Given the description of an element on the screen output the (x, y) to click on. 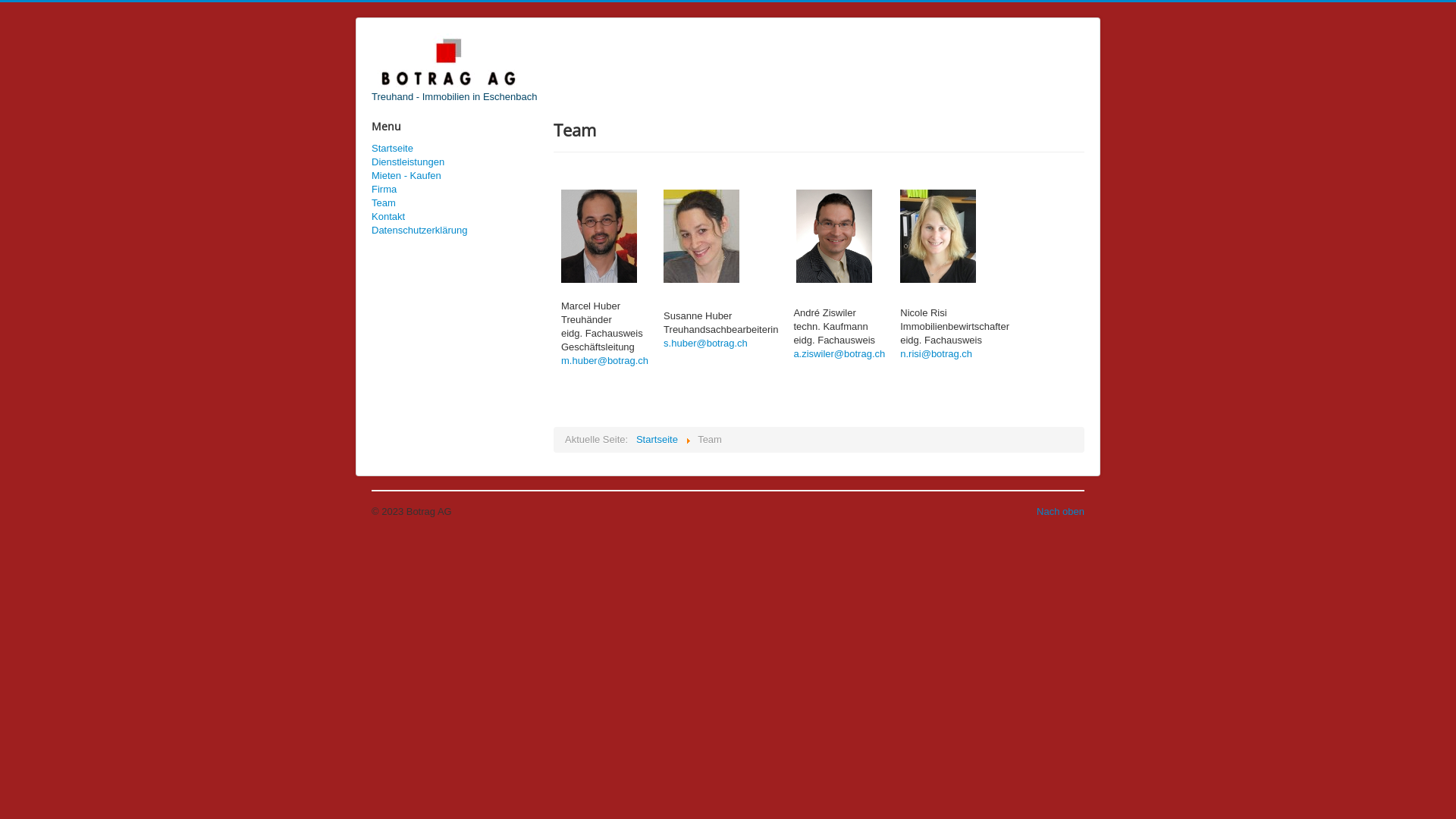
Firma Element type: text (454, 189)
m.huber@botrag.ch Element type: text (604, 360)
Kontakt Element type: text (454, 216)
s.huber@botrag.ch Element type: text (705, 342)
Team Element type: text (454, 203)
Mieten - Kaufen Element type: text (454, 175)
Treuhand - Immobilien in Eschenbach Element type: text (453, 68)
a.ziswiler@botrag.ch Element type: text (838, 353)
Nach oben Element type: text (1060, 511)
Startseite Element type: text (656, 439)
Dienstleistungen Element type: text (454, 162)
Startseite Element type: text (454, 148)
n.risi@botrag.ch Element type: text (936, 353)
